Given the description of an element on the screen output the (x, y) to click on. 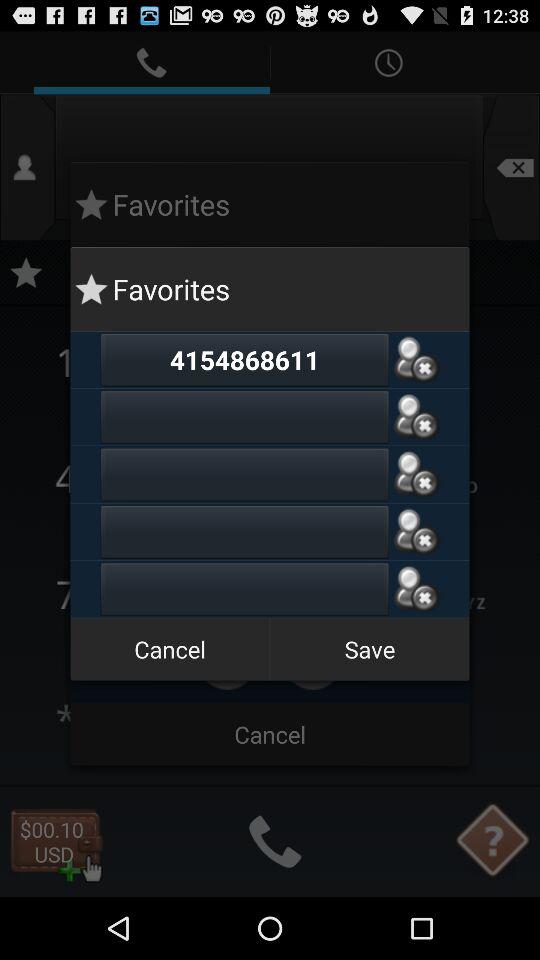
mark as a favorite (416, 474)
